Given the description of an element on the screen output the (x, y) to click on. 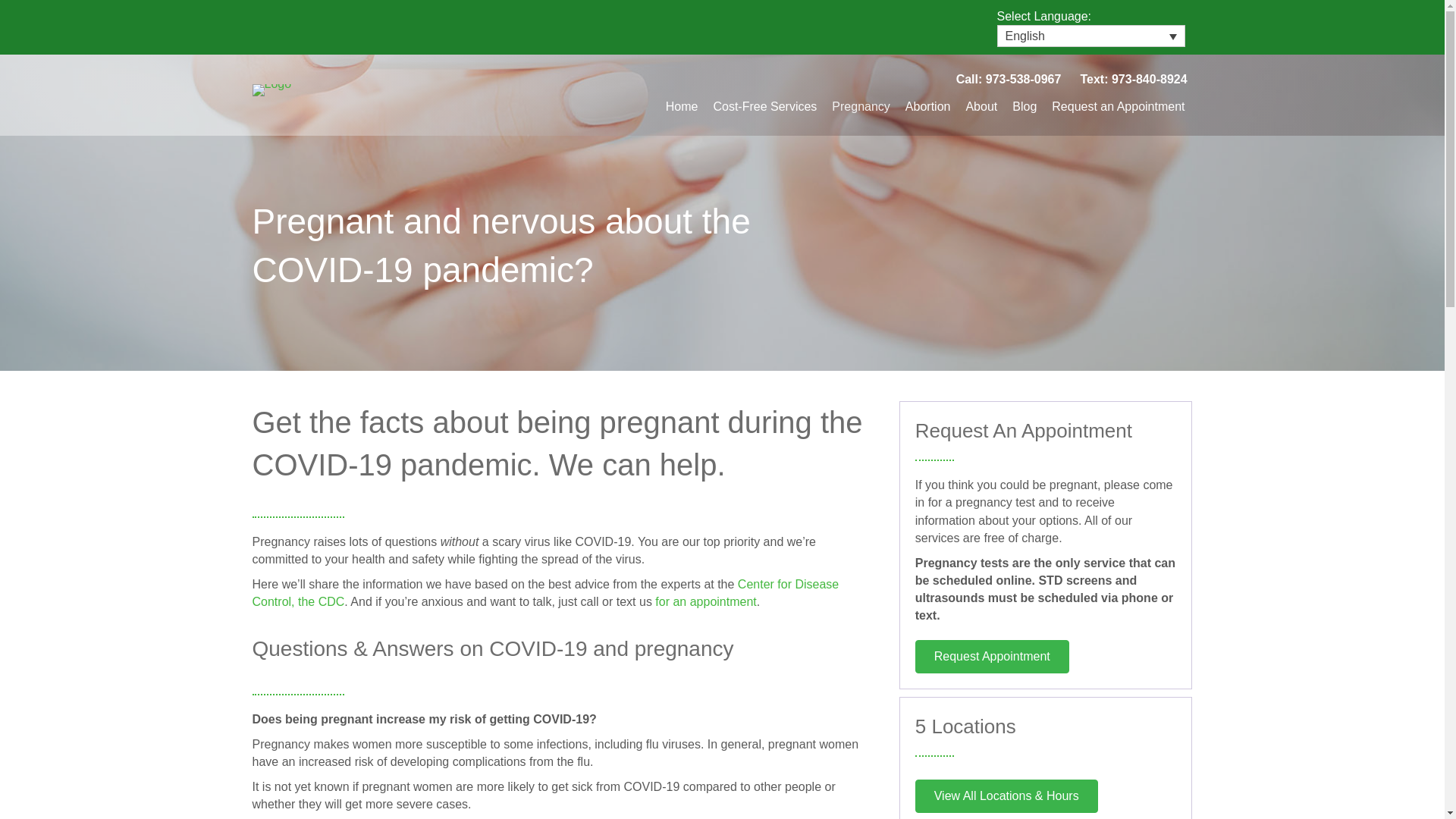
About (981, 106)
Request an Appointment (1117, 106)
Home (682, 106)
Cost-Free Services (764, 106)
English (1090, 35)
Call: 973-538-0967 (1008, 79)
Pregnancy (861, 106)
Abortion (928, 106)
Text: 973-840-8924 (1133, 79)
Blog (1023, 106)
Logo-clear (271, 90)
